Given the description of an element on the screen output the (x, y) to click on. 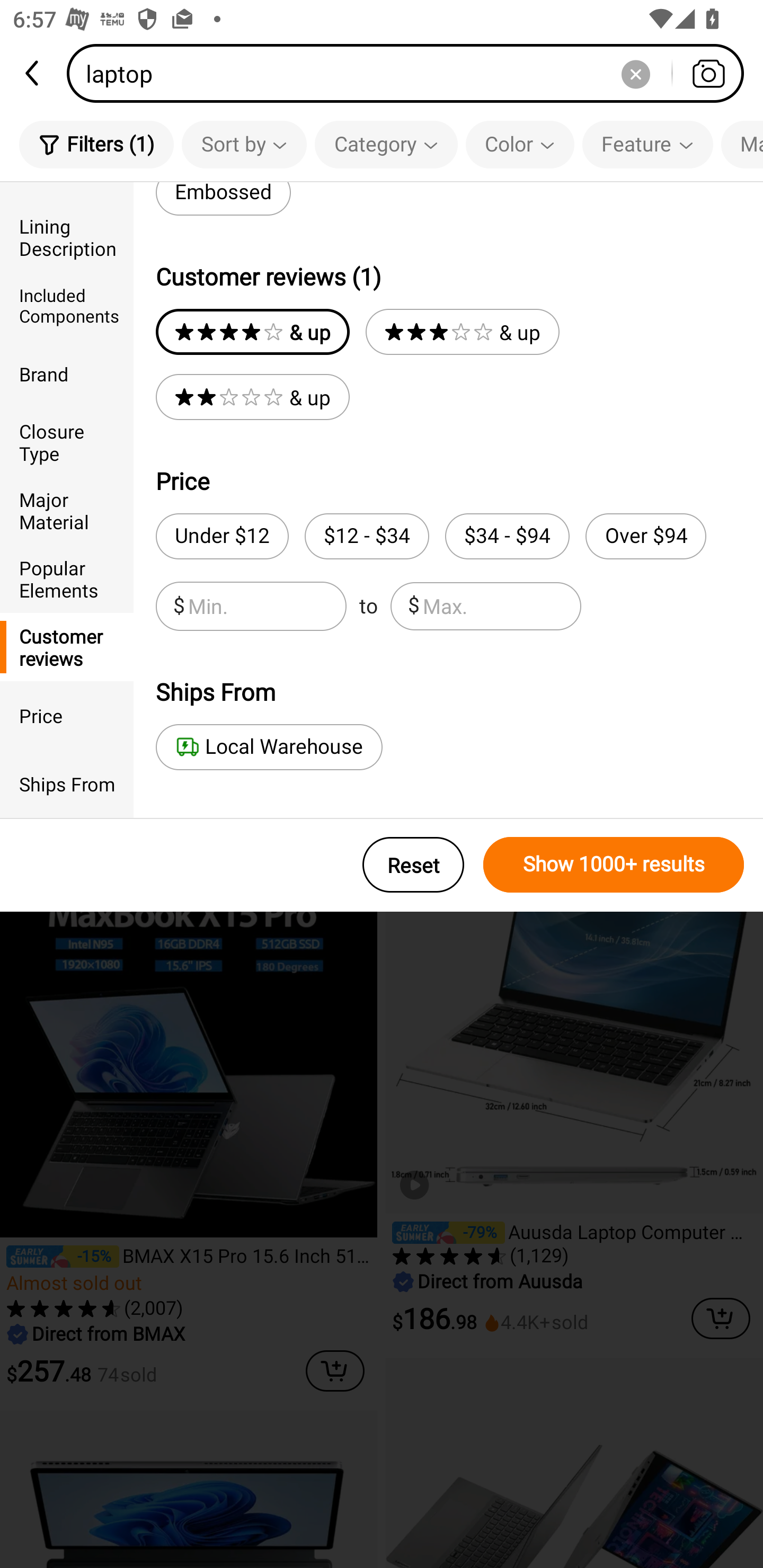
back (33, 72)
laptop (411, 73)
Delete search history (635, 73)
Search by photo (708, 73)
Filters (1) (96, 143)
Sort by (243, 143)
Category (385, 143)
Color (519, 143)
Feature (647, 143)
Embossed (222, 198)
Lining Description (66, 236)
Included Components (66, 305)
& up (252, 331)
& up (462, 331)
Brand (66, 373)
& up (252, 397)
Closure Type (66, 441)
Major Material (66, 510)
Under $12 (221, 535)
$12 - $34 (366, 535)
$34 - $94 (506, 535)
Over $94 (645, 535)
Popular Elements (66, 578)
$ Min. to $ Max. (368, 605)
Customer reviews (66, 646)
Price (66, 714)
Local Warehouse (268, 746)
Ships From (66, 783)
Reset (412, 864)
Show 1000+ results (612, 864)
